Given the description of an element on the screen output the (x, y) to click on. 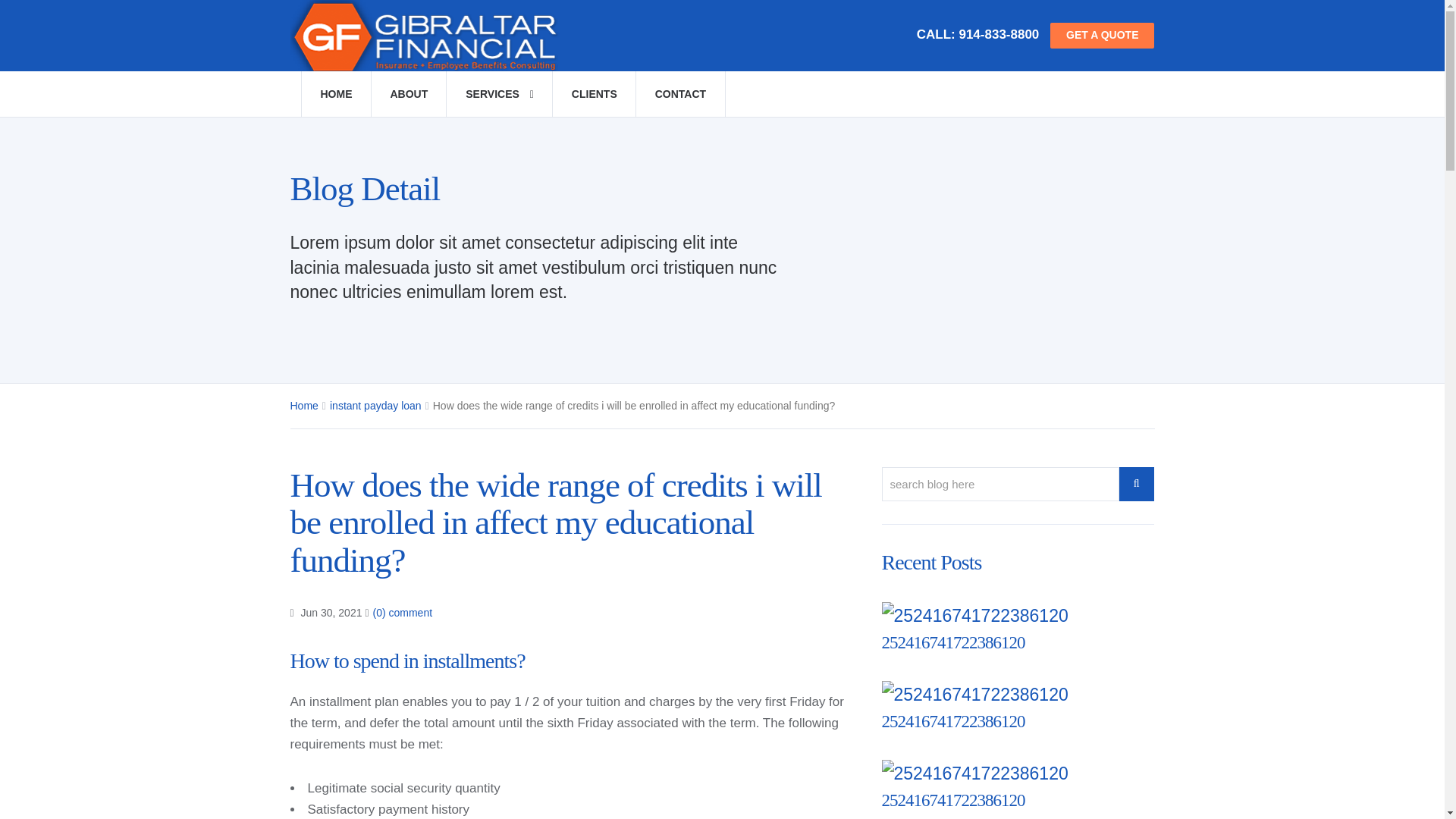
252416741722386120 (952, 721)
Home (303, 405)
252416741722386120 (952, 642)
252416741722386120 (952, 642)
ABOUT (407, 94)
CLIENTS (593, 94)
252416741722386120 (952, 800)
HOME (335, 94)
services (499, 94)
252416741722386120 (952, 800)
